Given the description of an element on the screen output the (x, y) to click on. 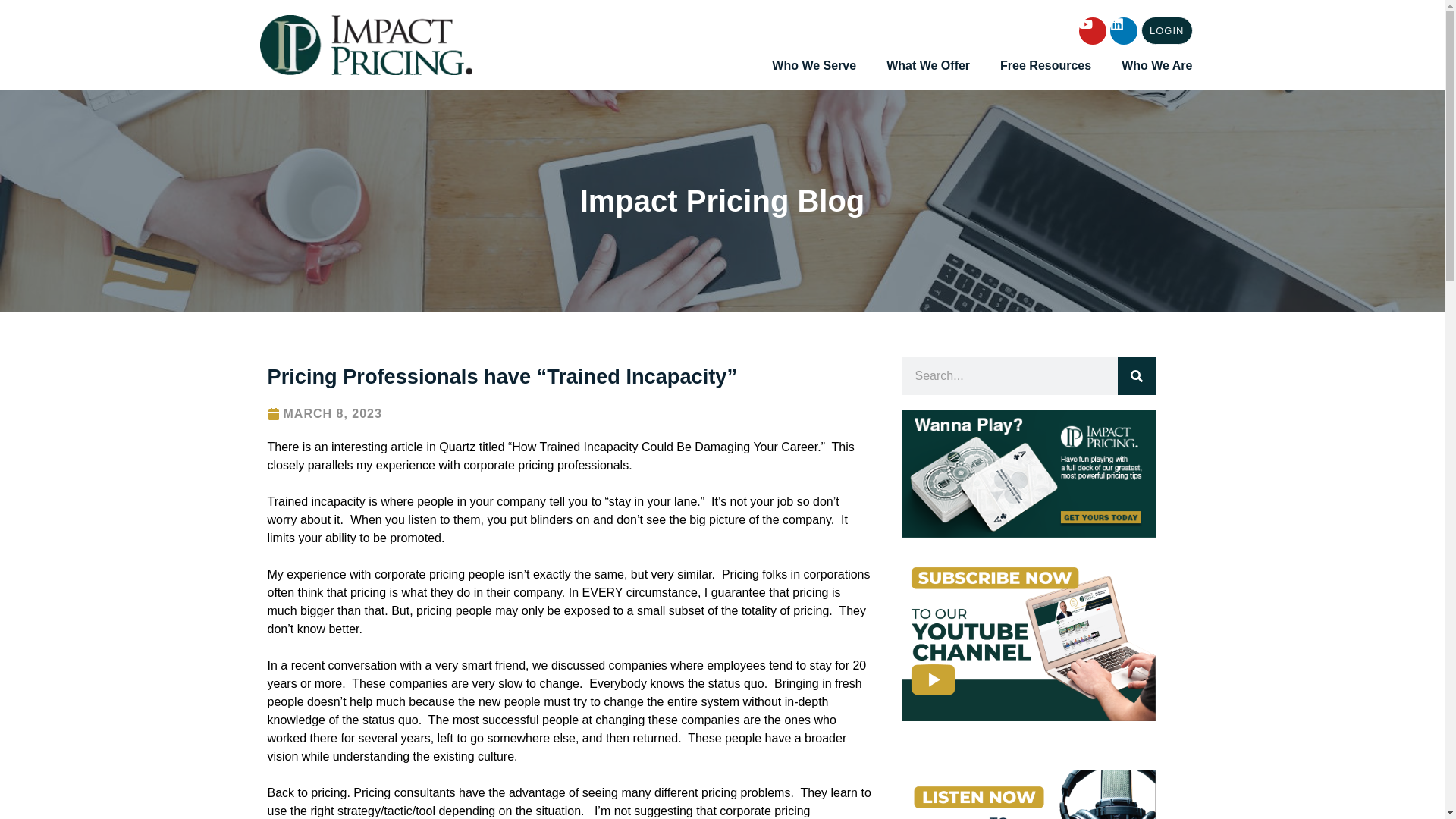
What We Offer (927, 65)
Who We Are (1156, 65)
Free Resources (1045, 65)
Who We Serve (813, 65)
LOGIN (1166, 30)
